Given the description of an element on the screen output the (x, y) to click on. 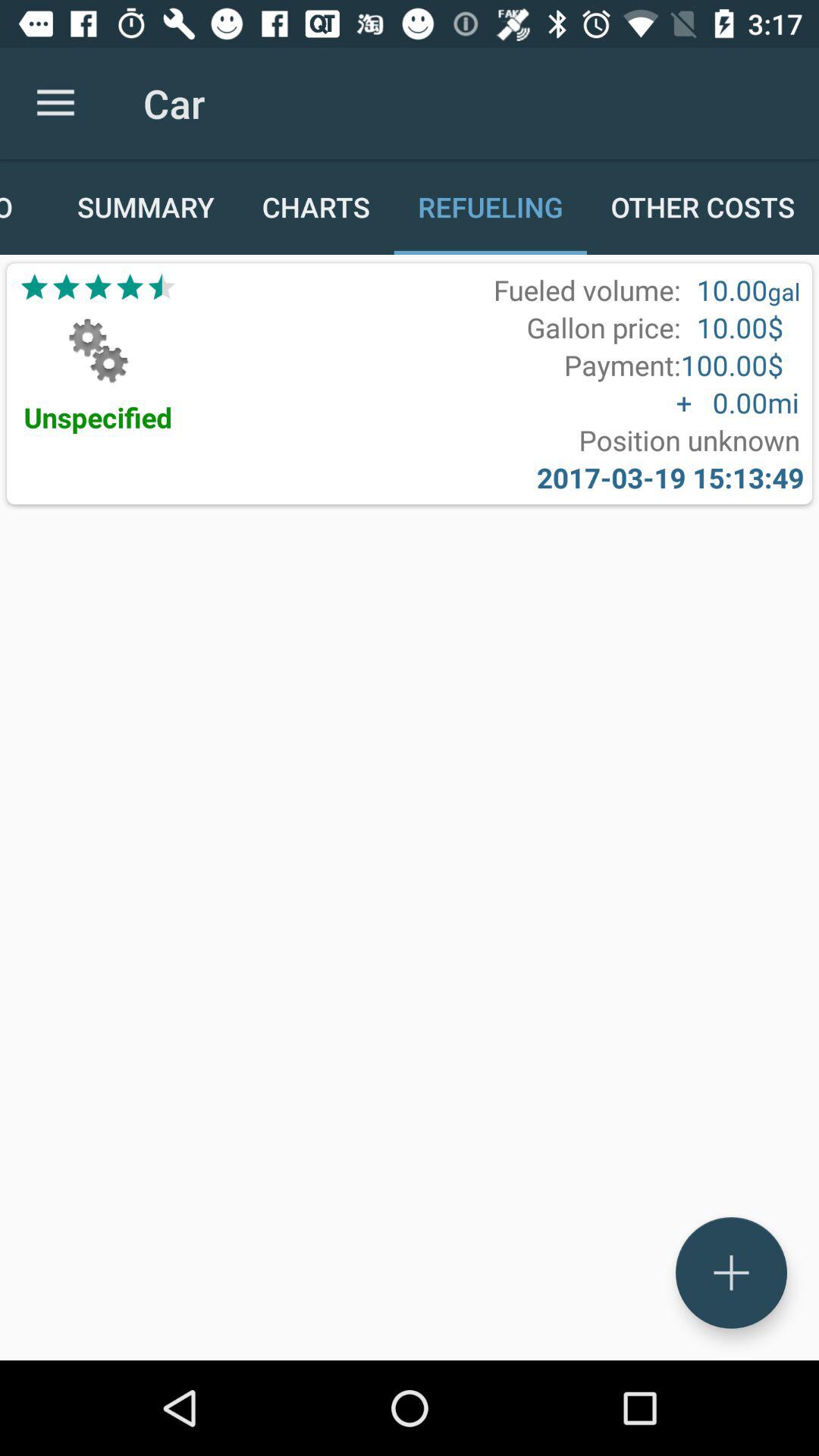
choose the icon to the left of the 100.00 (622, 364)
